Given the description of an element on the screen output the (x, y) to click on. 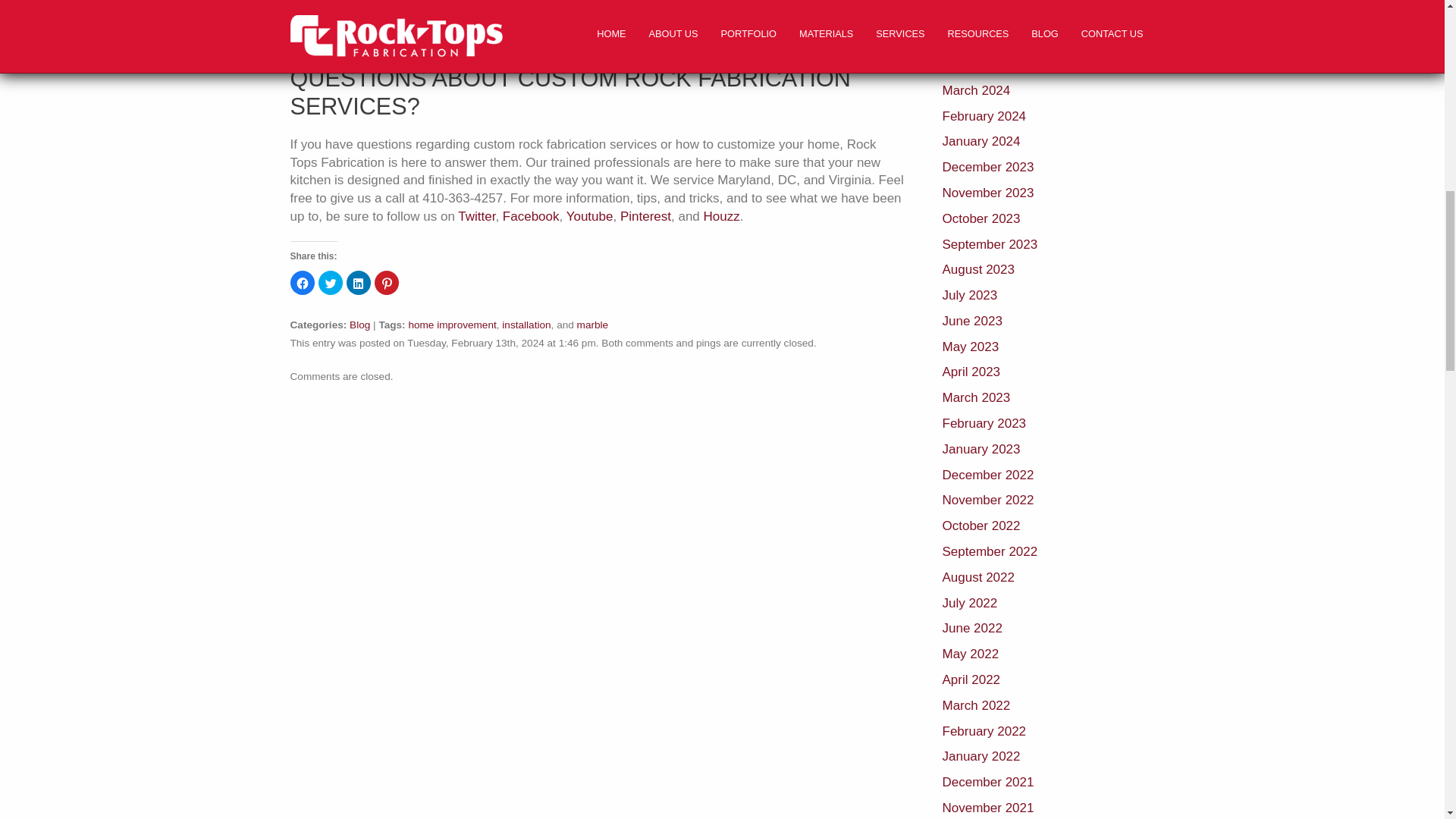
Click to share on LinkedIn (357, 282)
Click to share on Twitter (330, 282)
Houzz (721, 216)
Click to share on Pinterest (386, 282)
needs regular cleaning (620, 5)
Pinterest (645, 216)
Click to share on Facebook (301, 282)
Youtube (589, 216)
Facebook (530, 216)
Twitter (476, 216)
